Given the description of an element on the screen output the (x, y) to click on. 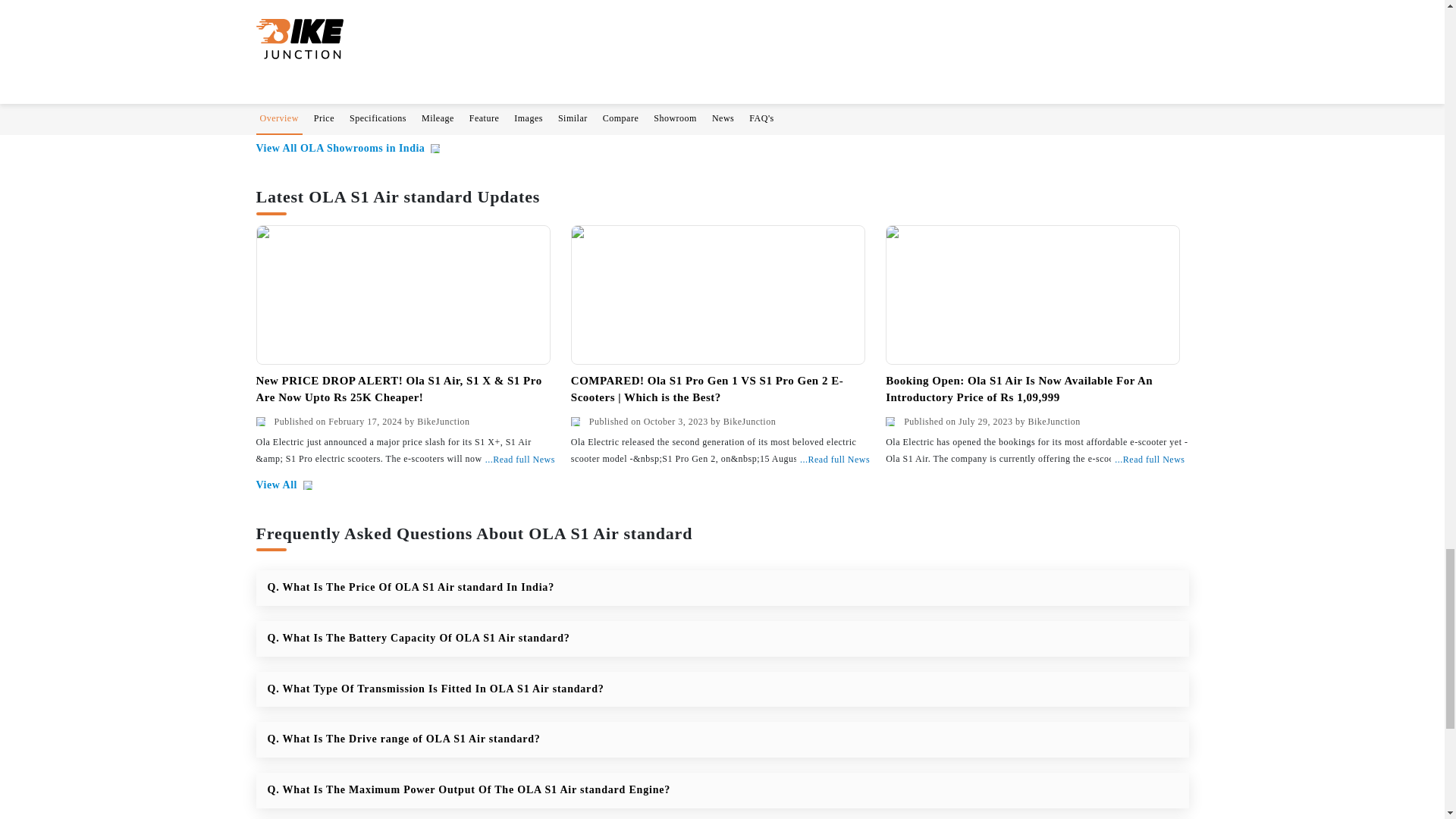
Contact Dealer (529, 98)
Contact Dealer (343, 98)
View All OLA Showrooms in India (348, 148)
